Given the description of an element on the screen output the (x, y) to click on. 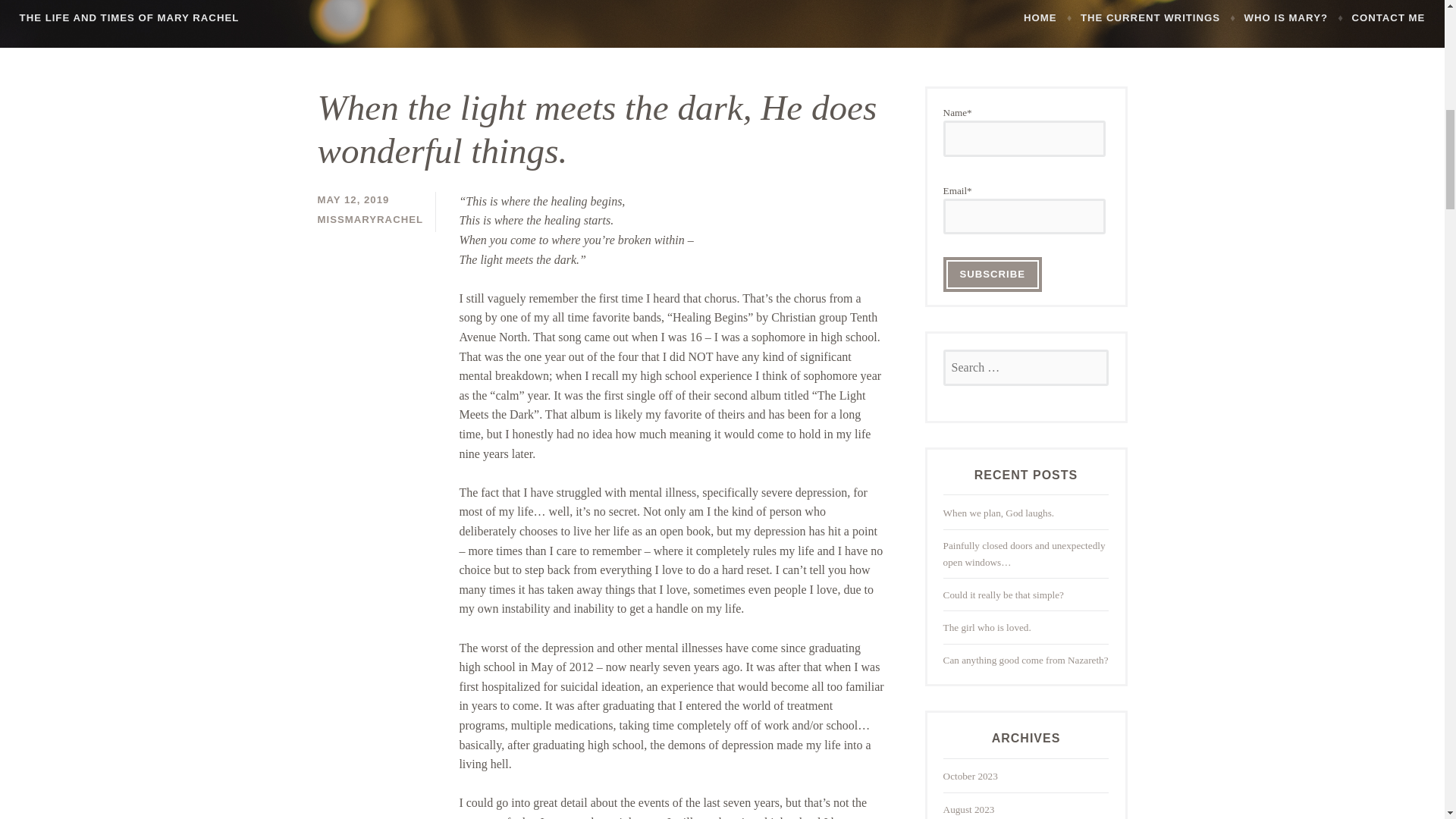
MAY 12, 2019 (352, 199)
The girl who is loved. (986, 627)
When we plan, God laughs. (998, 512)
Subscribe (992, 274)
Can anything good come from Nazareth? (1025, 659)
August 2023 (968, 808)
MISSMARYRACHEL (370, 219)
October 2023 (970, 776)
Could it really be that simple? (1003, 594)
Subscribe (992, 274)
